Given the description of an element on the screen output the (x, y) to click on. 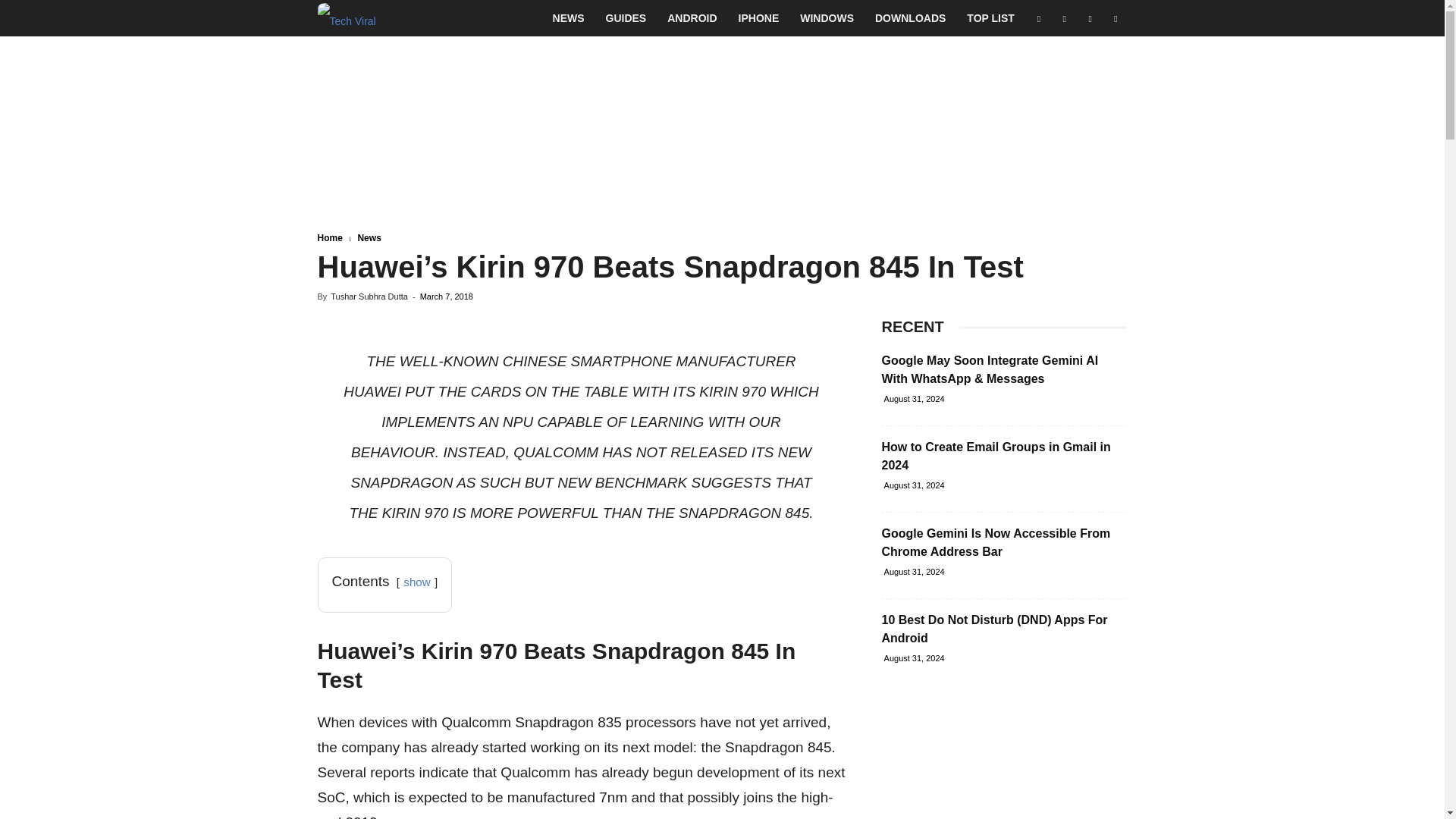
TOP LIST (990, 18)
DOWNLOADS (910, 18)
ANDROID (691, 18)
Tech Viral (346, 18)
Home (329, 237)
WINDOWS (826, 18)
NEWS (568, 18)
IPHONE (759, 18)
show (416, 581)
Tushar Subhra Dutta (368, 296)
